Given the description of an element on the screen output the (x, y) to click on. 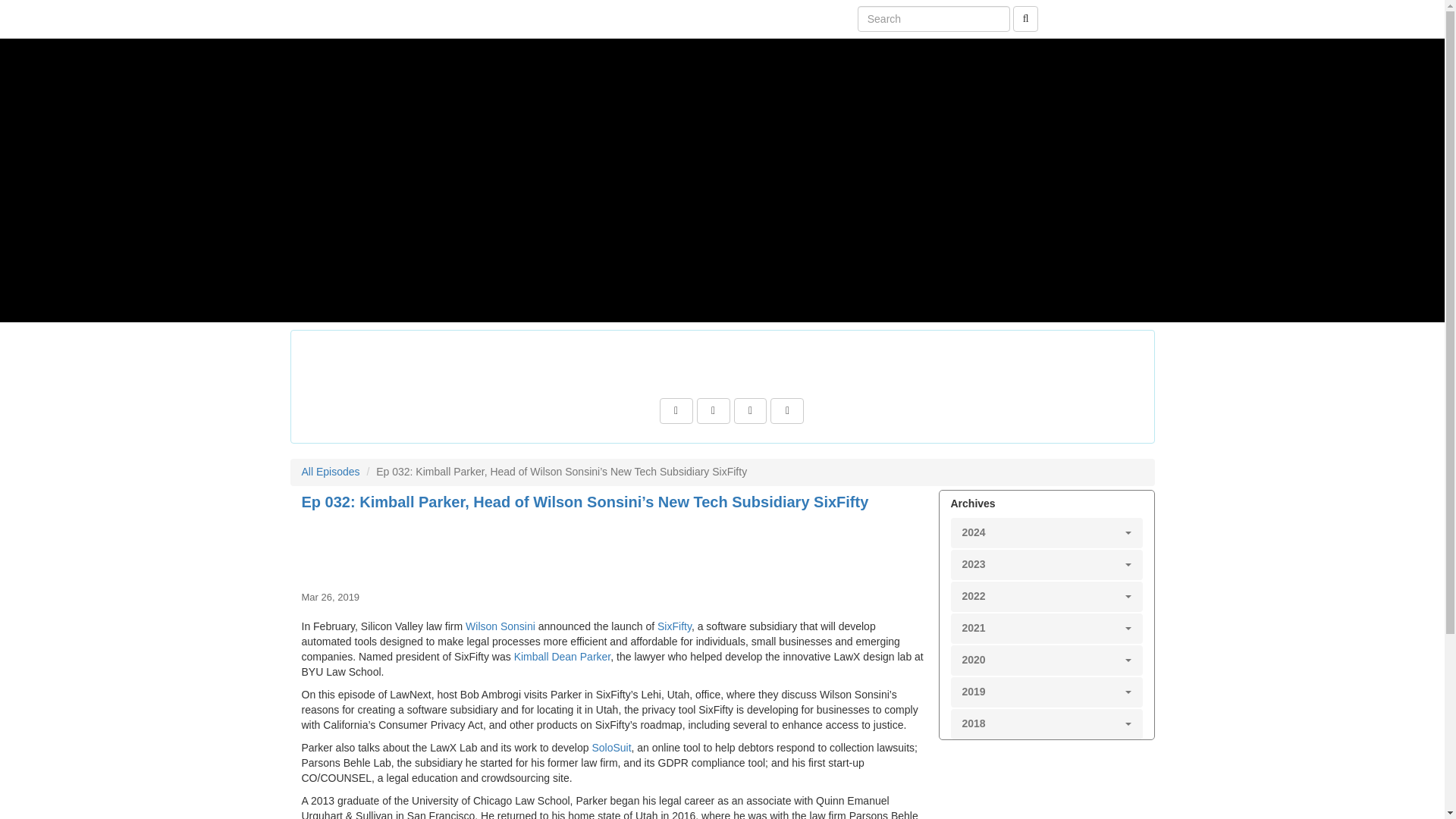
About (1063, 18)
Home Page (320, 18)
Episodes (1127, 18)
